Given the description of an element on the screen output the (x, y) to click on. 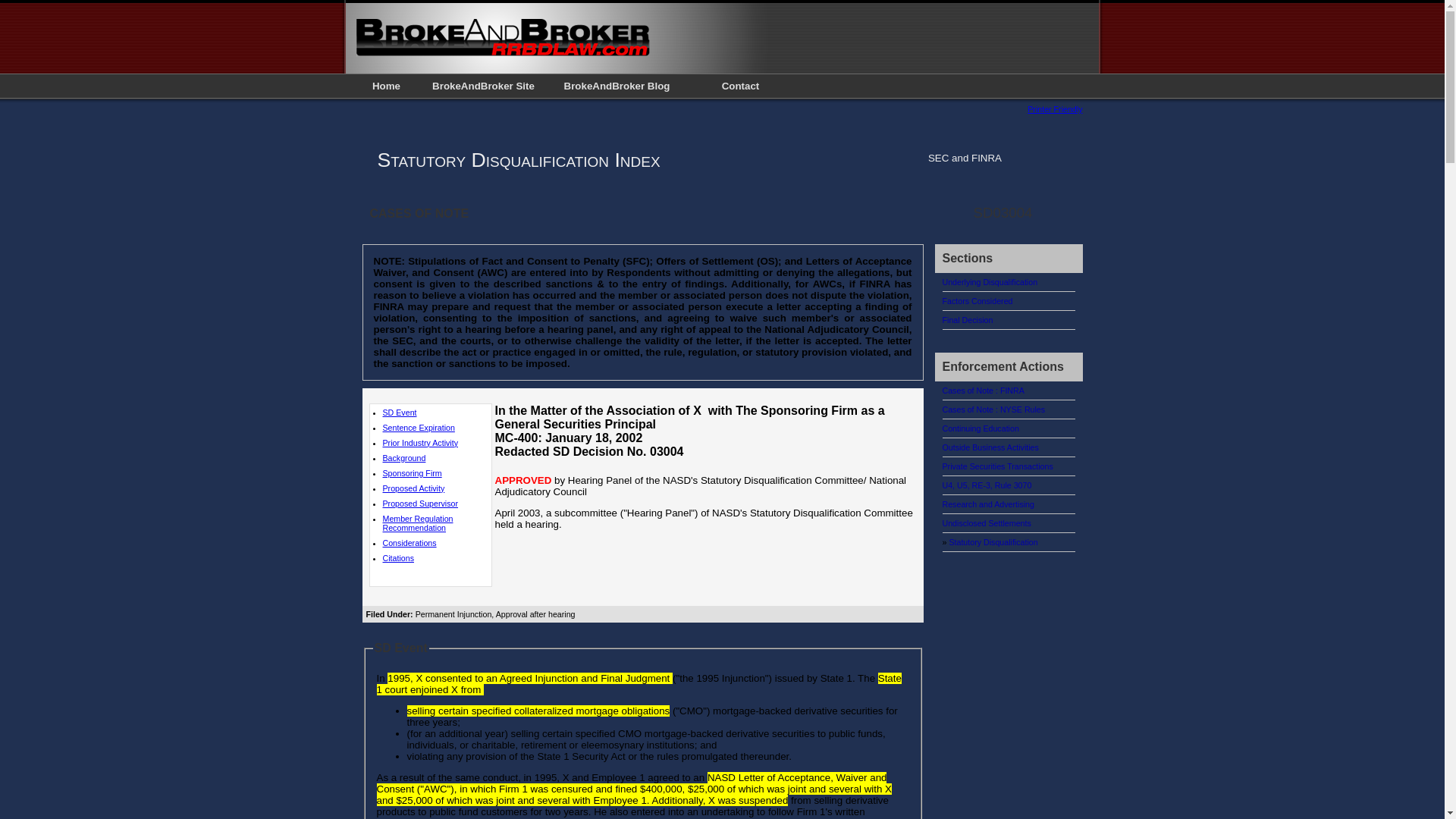
Final Decision (967, 319)
Outside Business Activities (990, 447)
Printer Friendly (1054, 108)
Sentence Expiration (417, 427)
BrokeAndBroker Site (483, 85)
BrokeAndBroker Blog (617, 85)
Private Securities Transactions (997, 465)
BrokeAndBroker (503, 56)
Continuing Education (979, 428)
Considerations (408, 542)
